Given the description of an element on the screen output the (x, y) to click on. 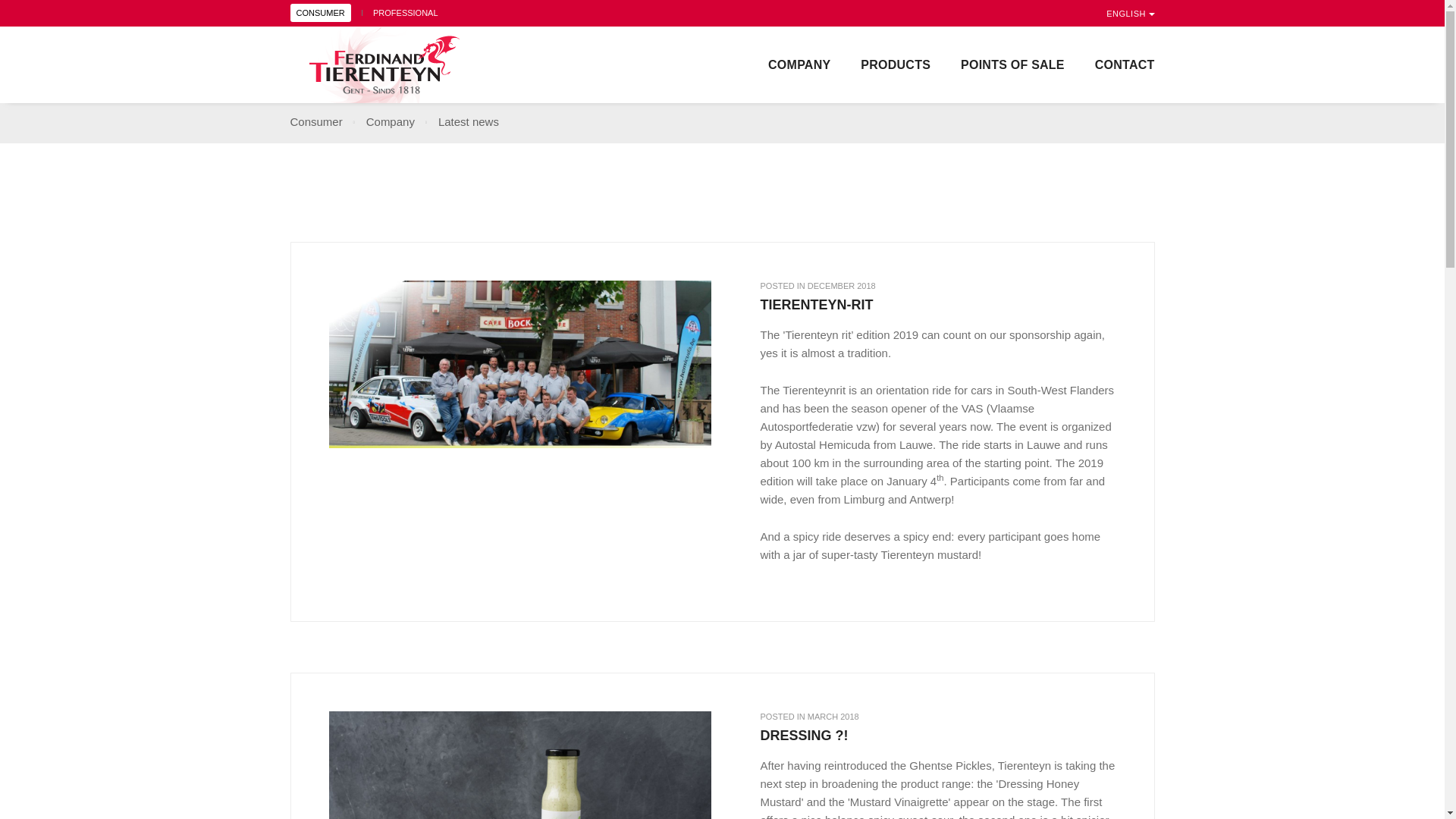
POINTS OF SALE (1012, 64)
Pofo (402, 65)
CONSUMER (319, 13)
Company (390, 121)
PROFESSIONAL (405, 12)
CONTACT (1124, 64)
ENGLISH (1130, 13)
PRODUCTS (895, 64)
COMPANY (798, 64)
Consumer (315, 121)
